Given the description of an element on the screen output the (x, y) to click on. 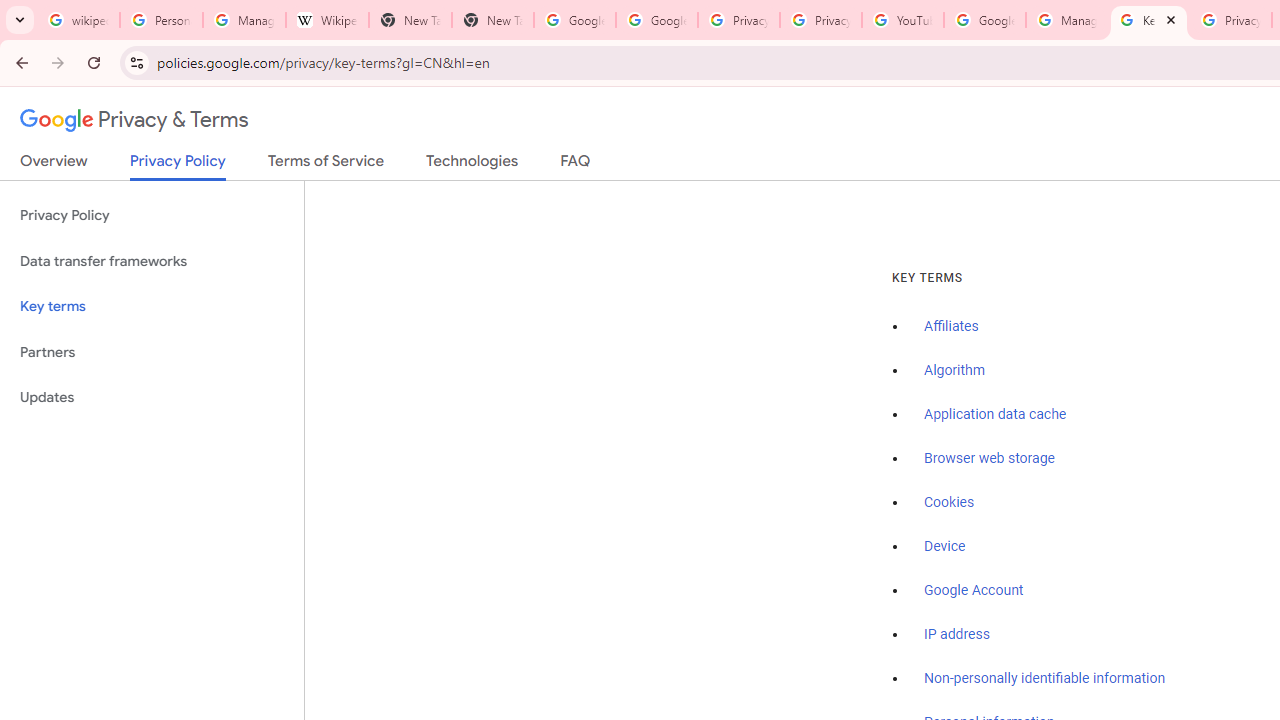
Google Account (974, 590)
Application data cache (995, 415)
Terms of Service (326, 165)
Browser web storage (989, 459)
Overview (54, 165)
Algorithm (954, 371)
Device (945, 546)
Google Drive: Sign-in (656, 20)
